Given the description of an element on the screen output the (x, y) to click on. 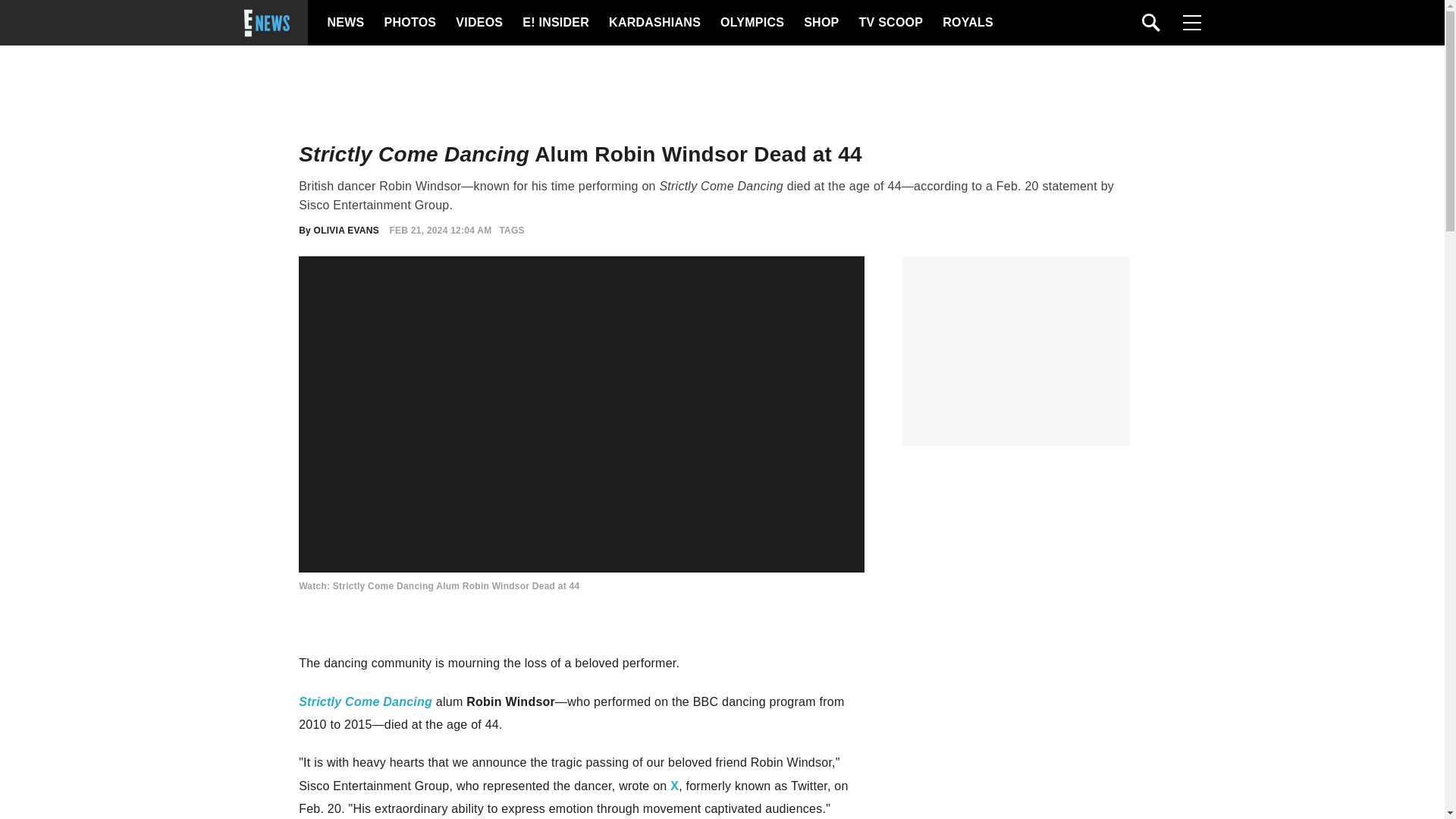
SHOP (820, 22)
KARDASHIANS (653, 22)
PHOTOS (408, 22)
E! INSIDER (555, 22)
VIDEOS (478, 22)
TV SCOOP (890, 22)
OLYMPICS (751, 22)
ROYALS (966, 22)
OLIVIA EVANS (346, 230)
Strictly Come Dancing (365, 701)
NEWS (345, 22)
